Given the description of an element on the screen output the (x, y) to click on. 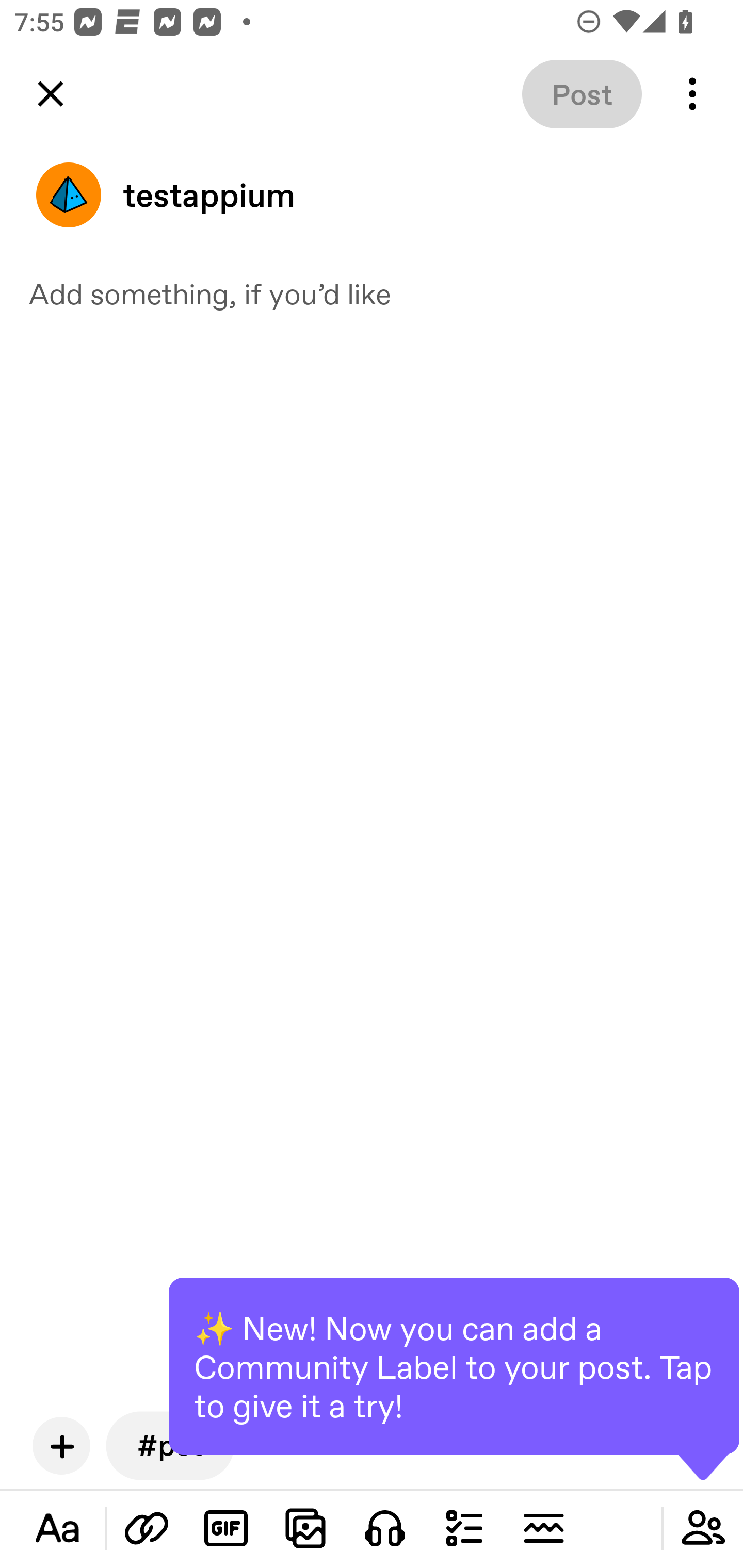
Navigate up (50, 93)
Post (581, 93)
Blog Selector testappium (371, 195)
Add something, if you’d like (371, 293)
Add text to post (57, 1528)
Add text to post (146, 1528)
Add GIF to post (225, 1528)
Add Photo to post (305, 1528)
Add Audio to post (384, 1528)
Add Poll to post (463, 1528)
Add read-more link to post (543, 1528)
Add community label for post (703, 1528)
